Given the description of an element on the screen output the (x, y) to click on. 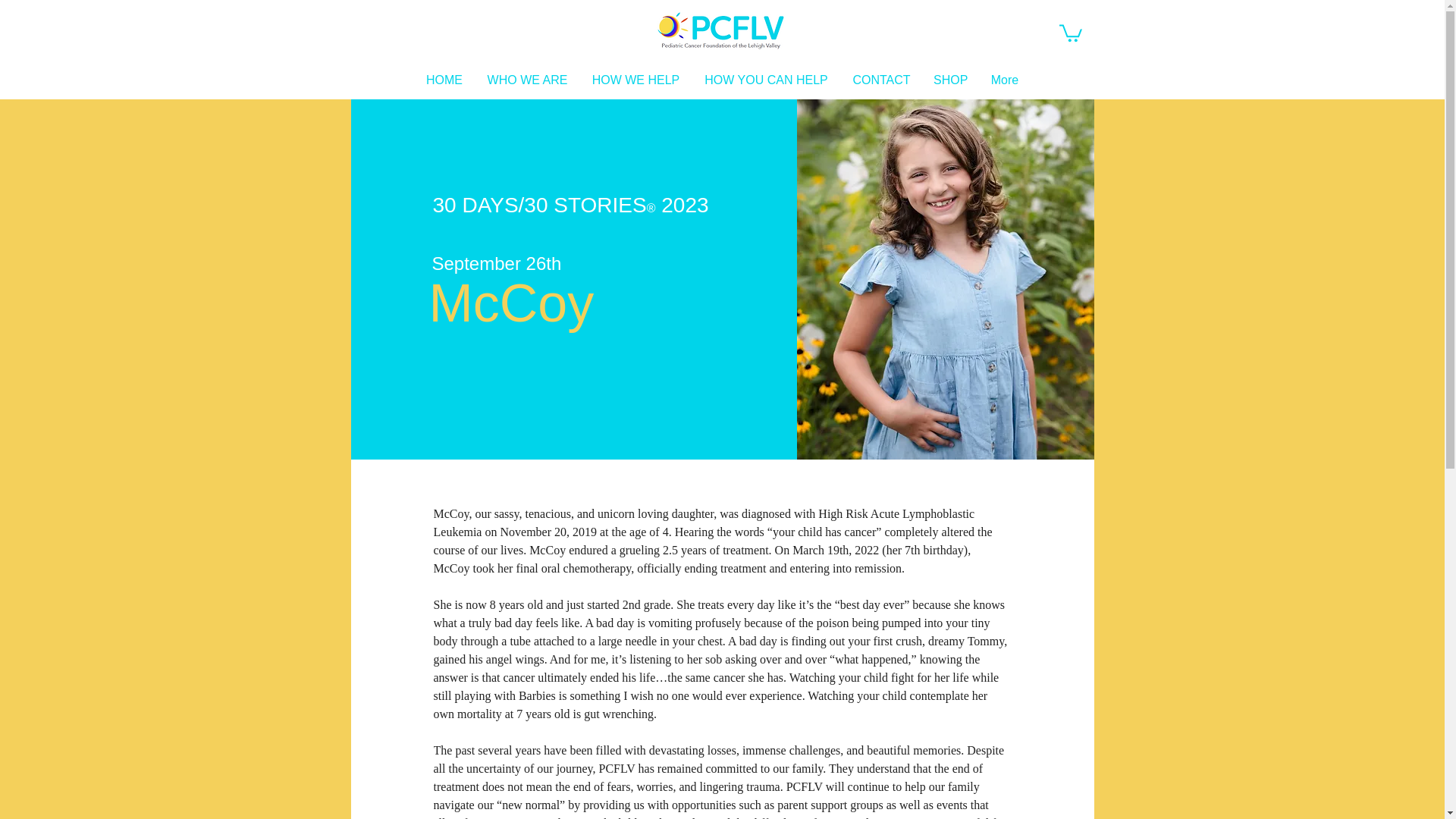
HOME (443, 79)
HOW WE HELP (635, 79)
HOW YOU CAN HELP (766, 79)
SHOP (949, 79)
WHO WE ARE (526, 79)
CONTACT (881, 79)
Screen Shot 2019-01-16 at 2.15.50 PM.png (720, 30)
